Given the description of an element on the screen output the (x, y) to click on. 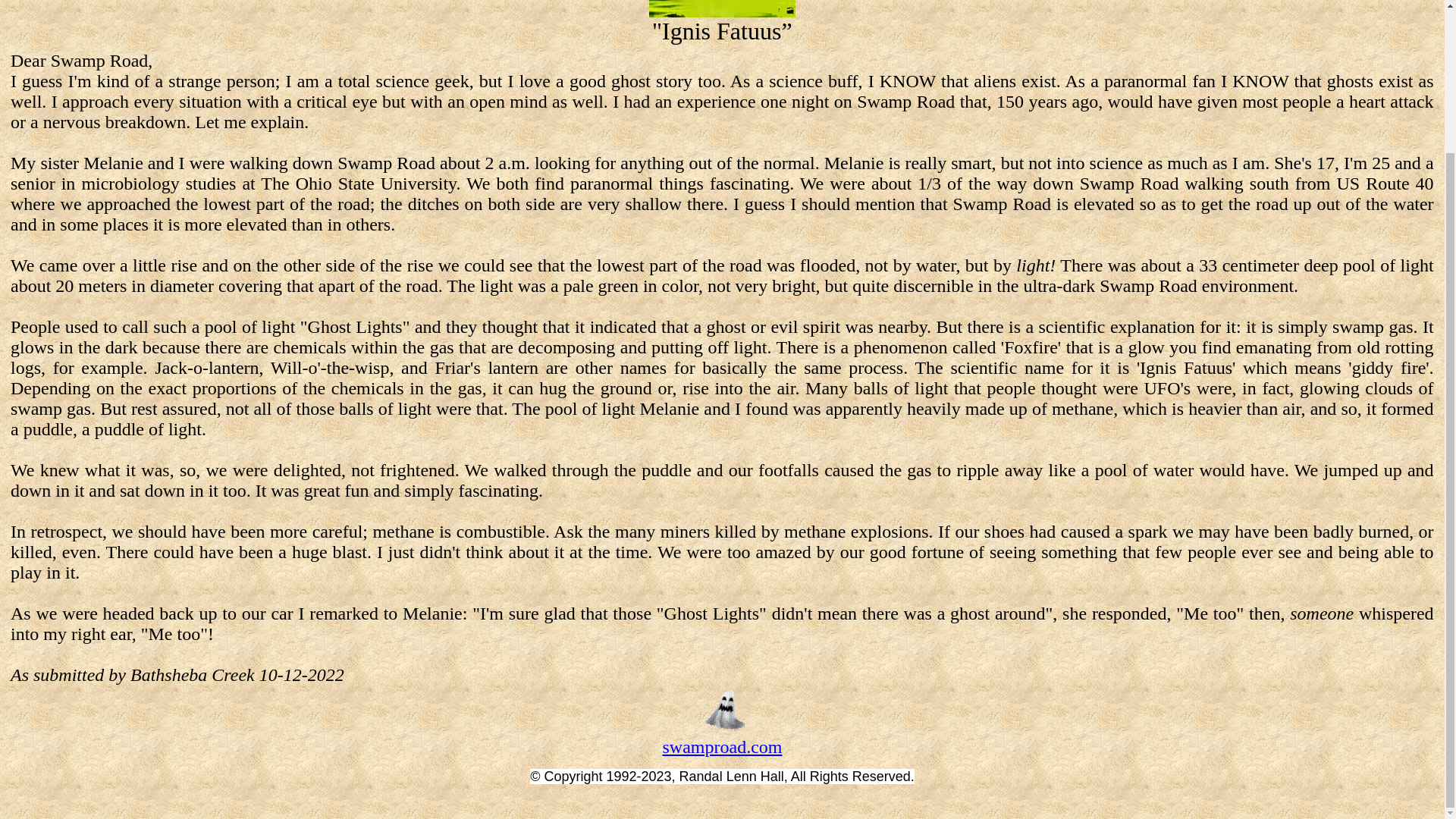
swamproad.com (722, 746)
